Given the description of an element on the screen output the (x, y) to click on. 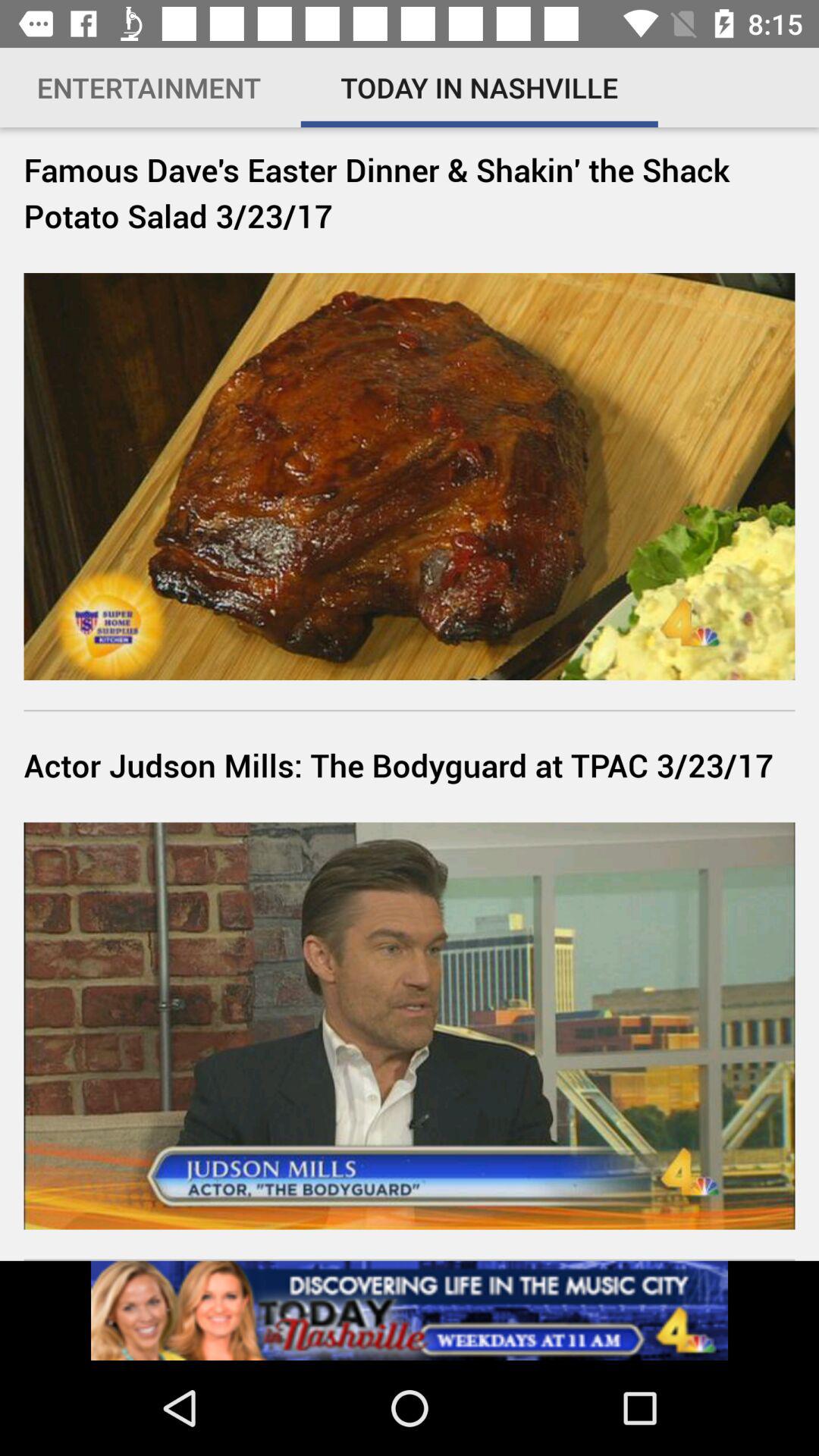
view app (409, 1310)
